Given the description of an element on the screen output the (x, y) to click on. 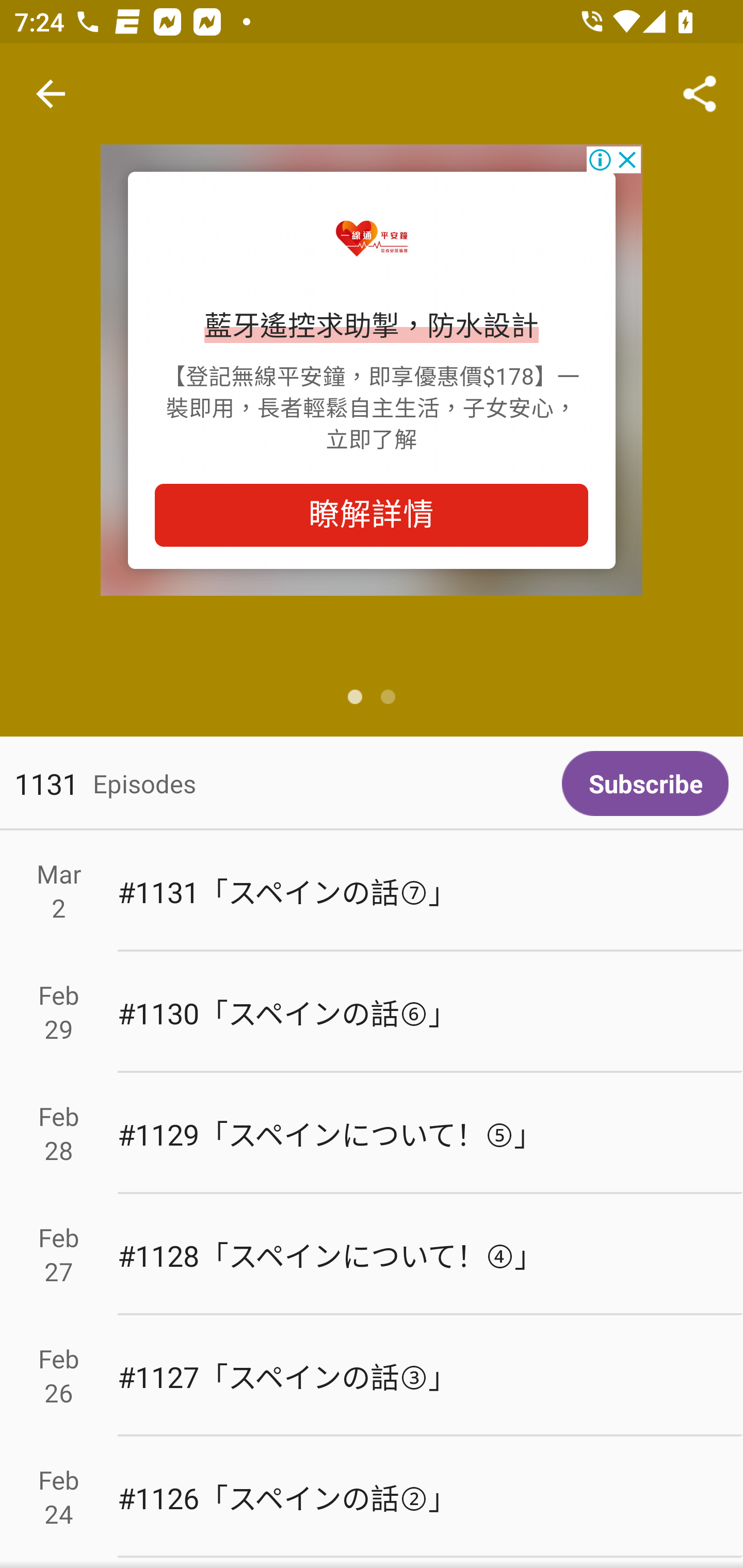
Navigate up (50, 93)
Share... (699, 93)
藍牙遙控求助掣，防水設計 (371, 327)
瞭解詳情 (371, 514)
Subscribe (644, 783)
Mar 2 #1131「スペインの話⑦」 (371, 891)
Feb 29 #1130「スペインの話⑥」 (371, 1011)
Feb 28 #1129「スペインについて！⑤」 (371, 1133)
Feb 27 #1128「スペインについて！④」 (371, 1254)
Feb 26 #1127「スペインの話③」 (371, 1375)
Feb 24 #1126「スペインの話②」 (371, 1496)
